Given the description of an element on the screen output the (x, y) to click on. 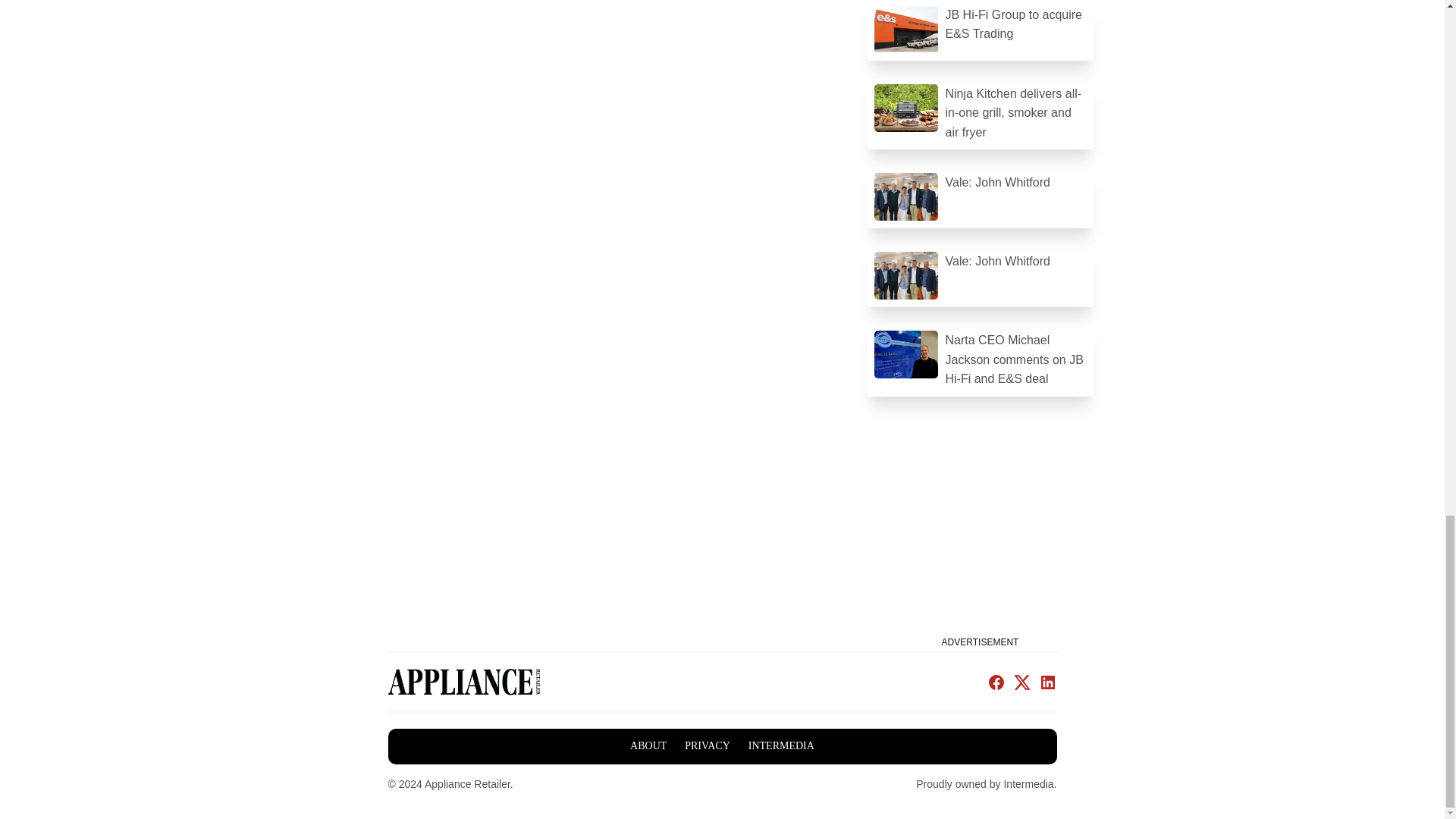
Vale: John Whitford (979, 275)
3rd party ad content (979, 536)
Vale: John Whitford (979, 196)
